Given the description of an element on the screen output the (x, y) to click on. 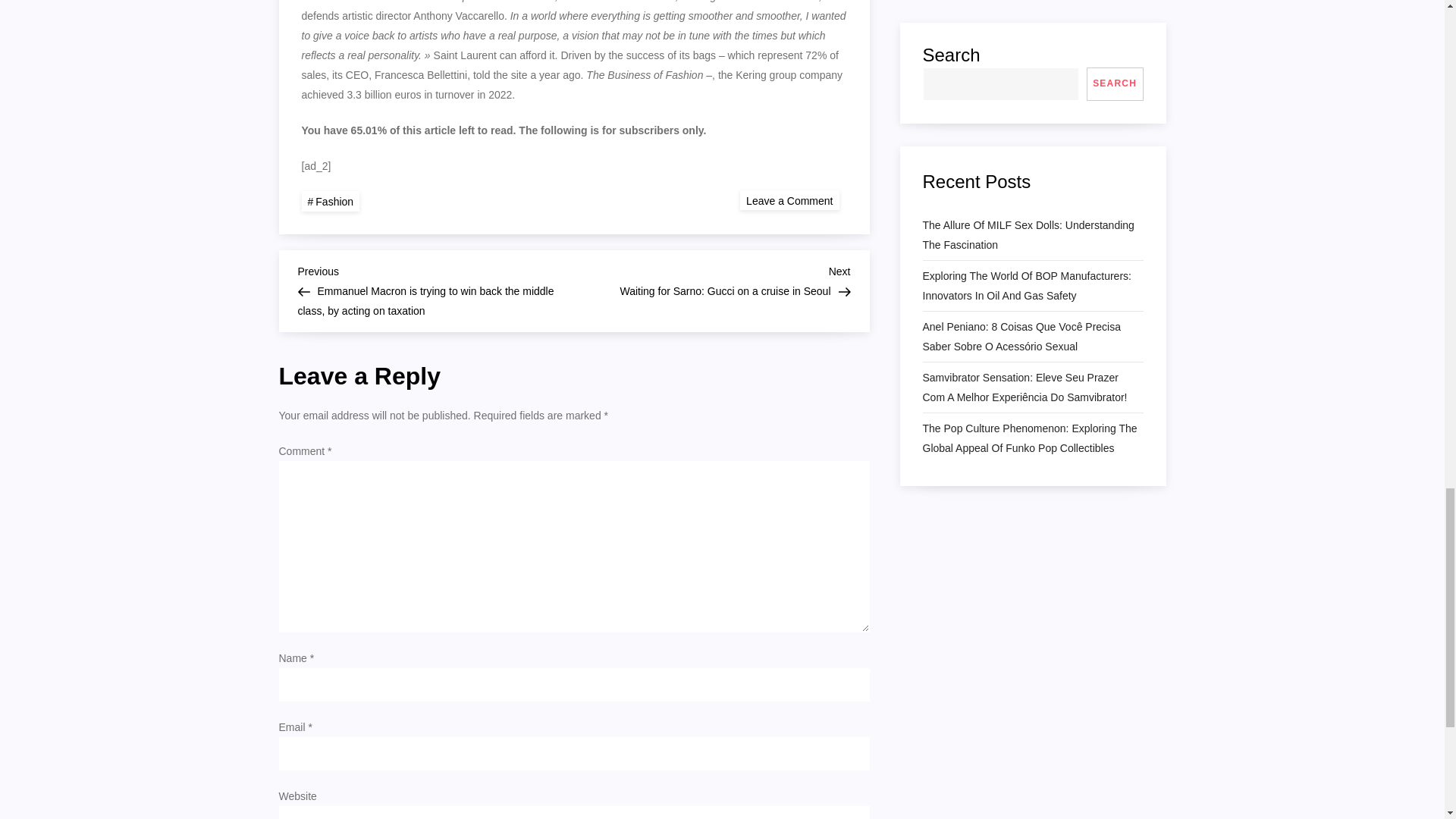
Fashion (330, 200)
